Given the description of an element on the screen output the (x, y) to click on. 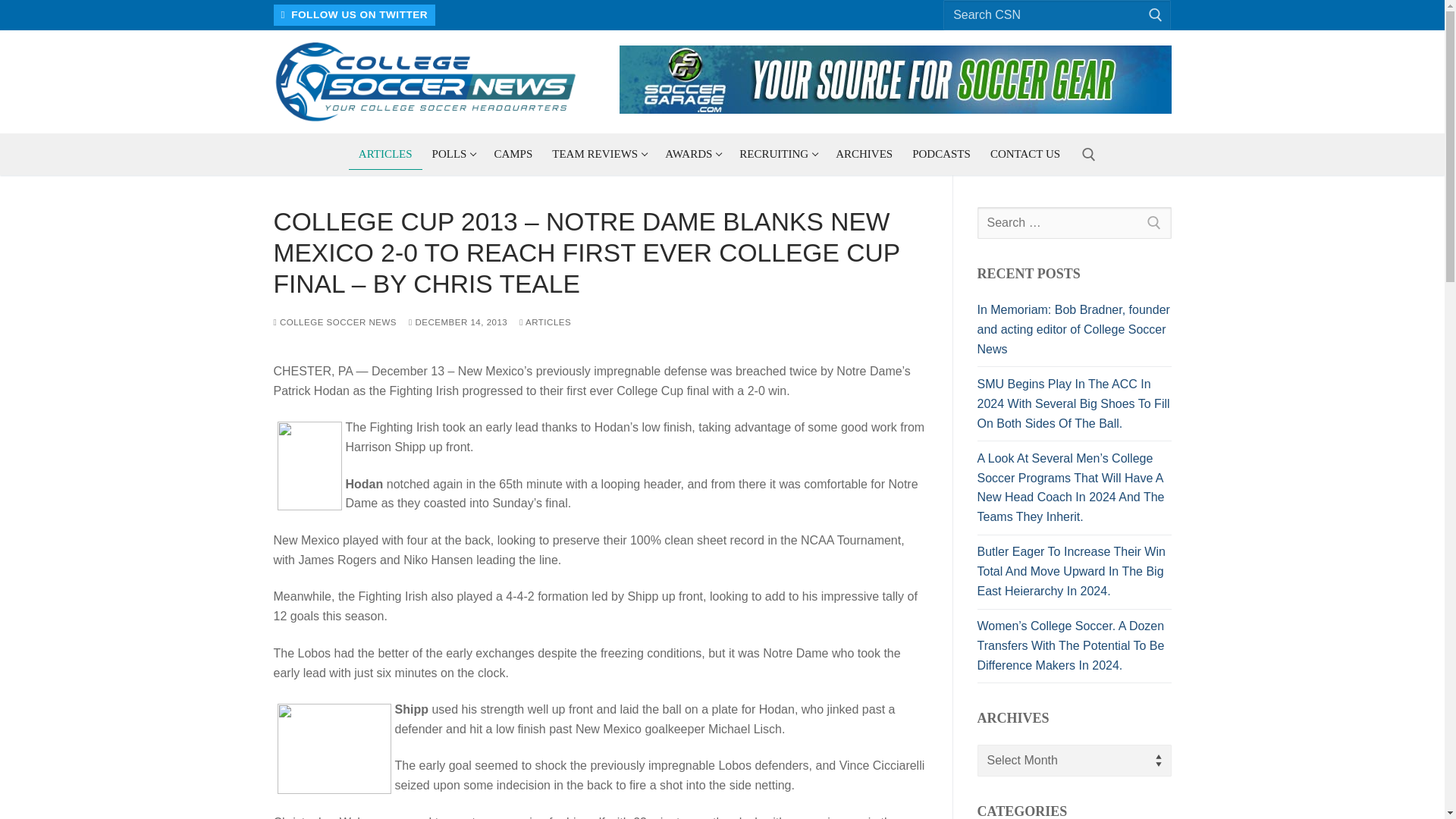
Search for: (1056, 14)
ARTICLES (385, 154)
FOLLOW US ON TWITTER (777, 153)
Search for: (354, 14)
CAMPS (453, 153)
